Given the description of an element on the screen output the (x, y) to click on. 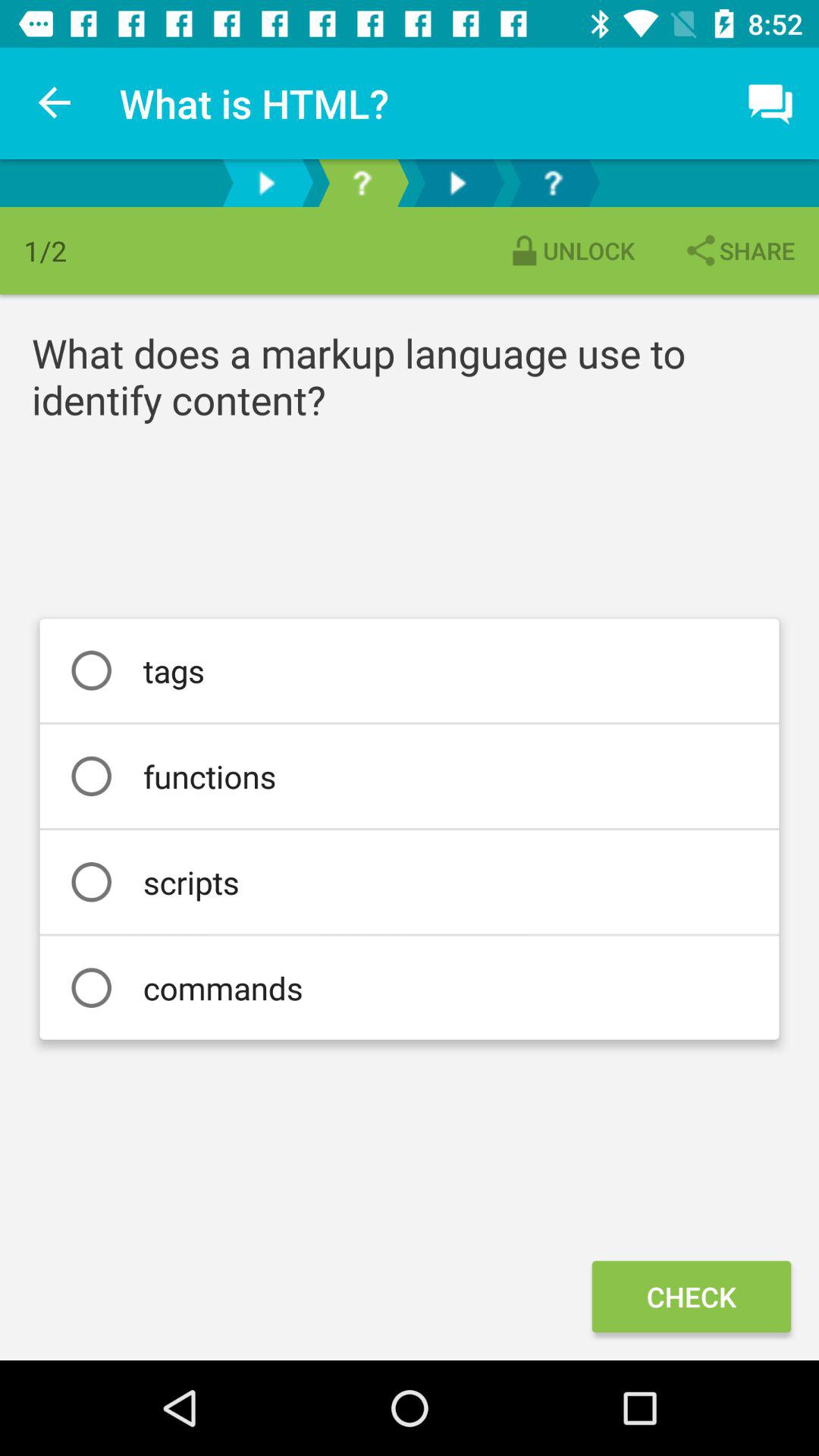
arrow with a question mark symbol (361, 183)
